Given the description of an element on the screen output the (x, y) to click on. 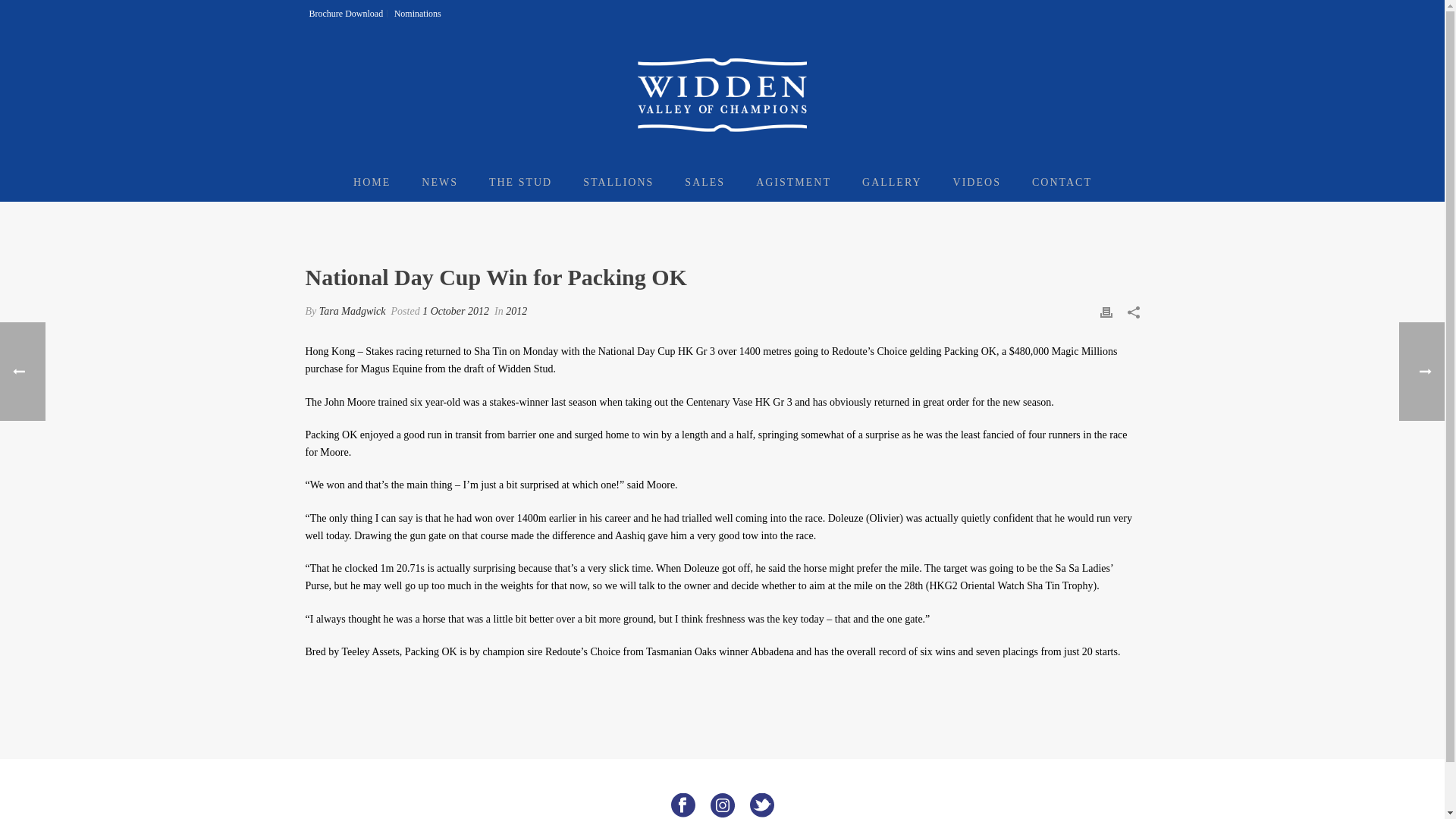
Follow Us on instagram (721, 806)
Brochure Download (345, 13)
NEWS (439, 181)
AGISTMENT (793, 181)
THE STUD (520, 181)
Follow Us on twitter (761, 806)
HOME (371, 181)
AGISTMENT (793, 181)
CONTACT (1061, 181)
Nominations (417, 13)
